Given the description of an element on the screen output the (x, y) to click on. 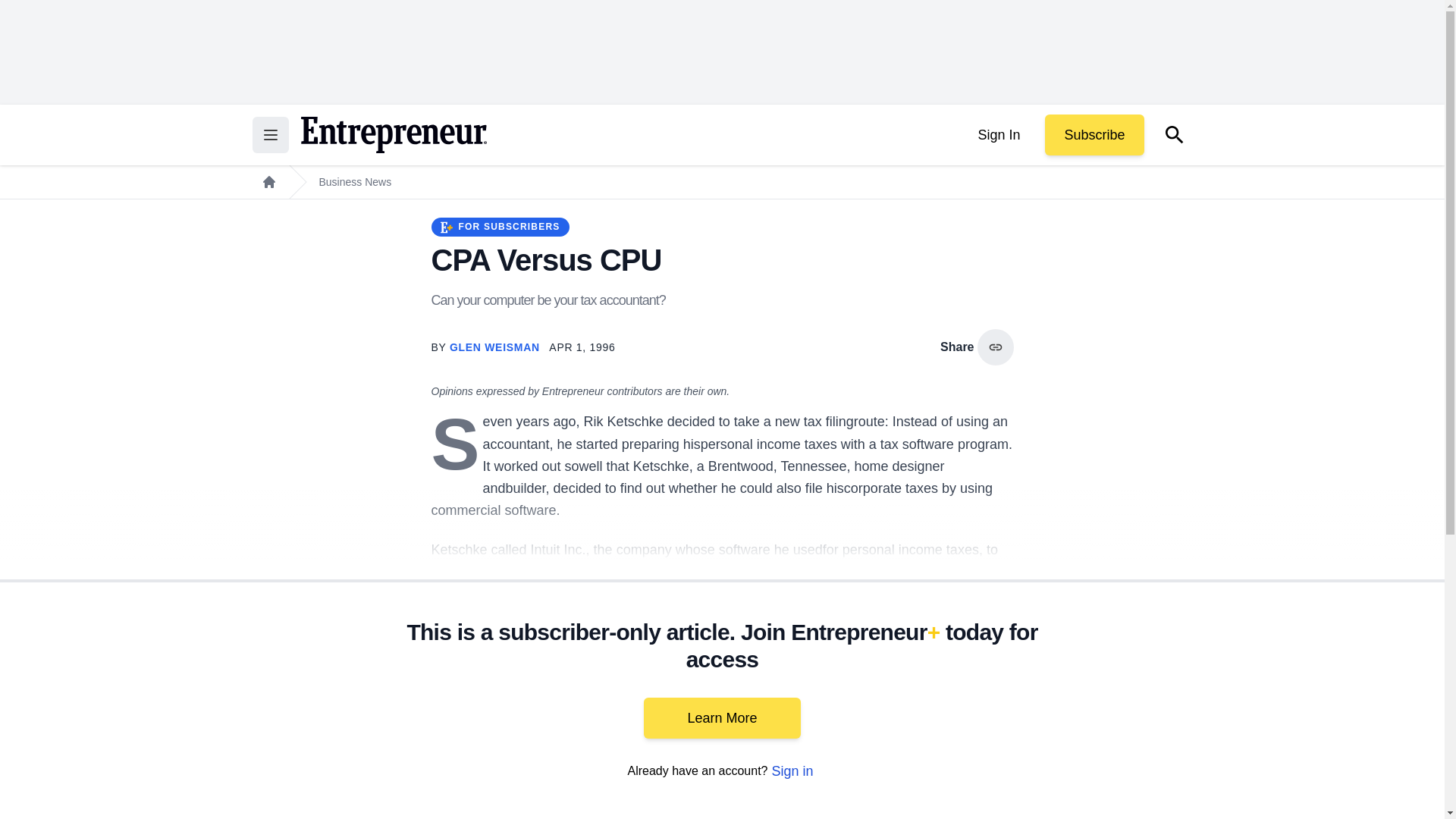
Subscribe (1093, 134)
Sign In (998, 134)
copy (994, 347)
Return to the home page (392, 135)
